Given the description of an element on the screen output the (x, y) to click on. 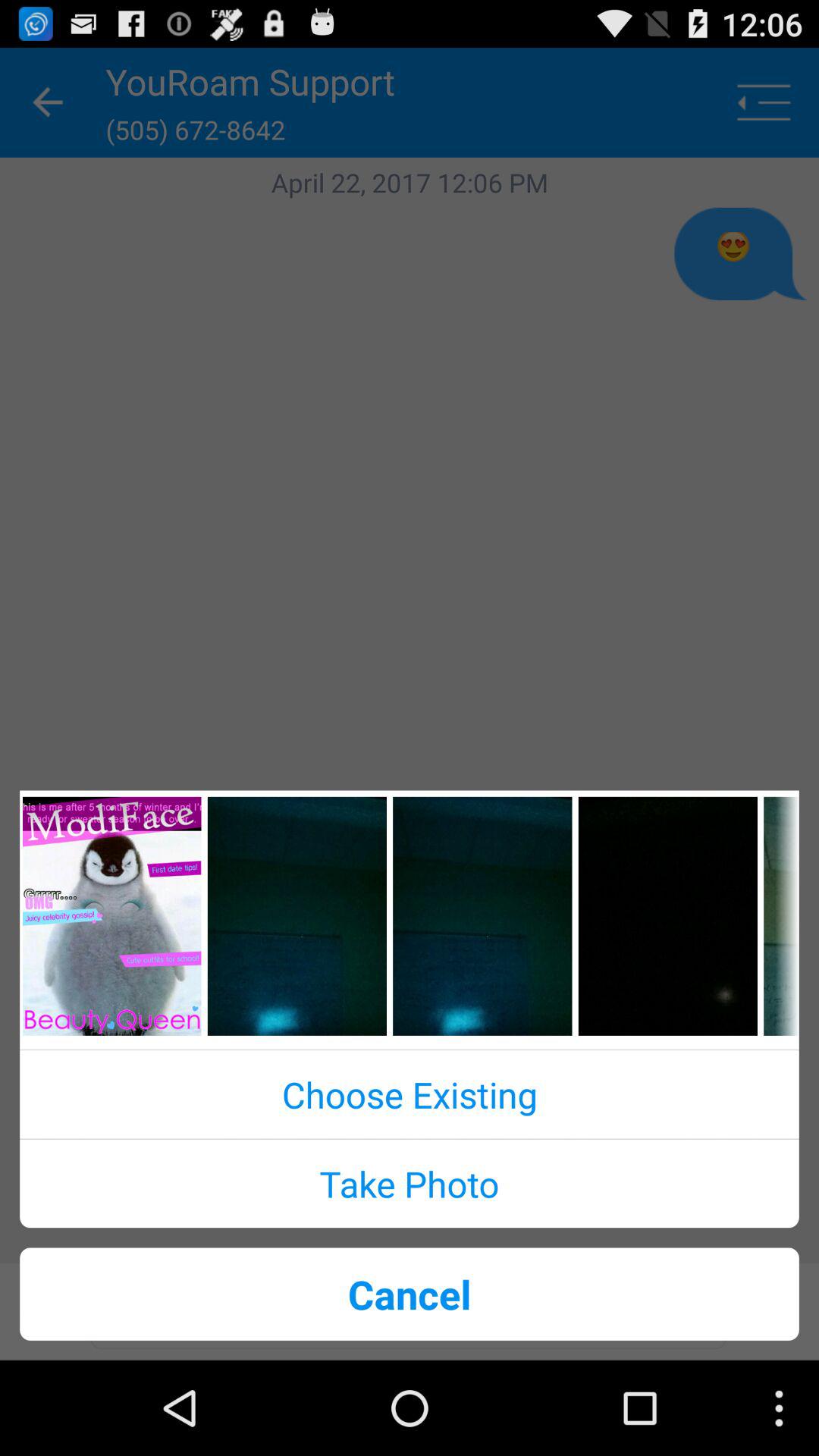
select an image from the image slider (482, 915)
